Given the description of an element on the screen output the (x, y) to click on. 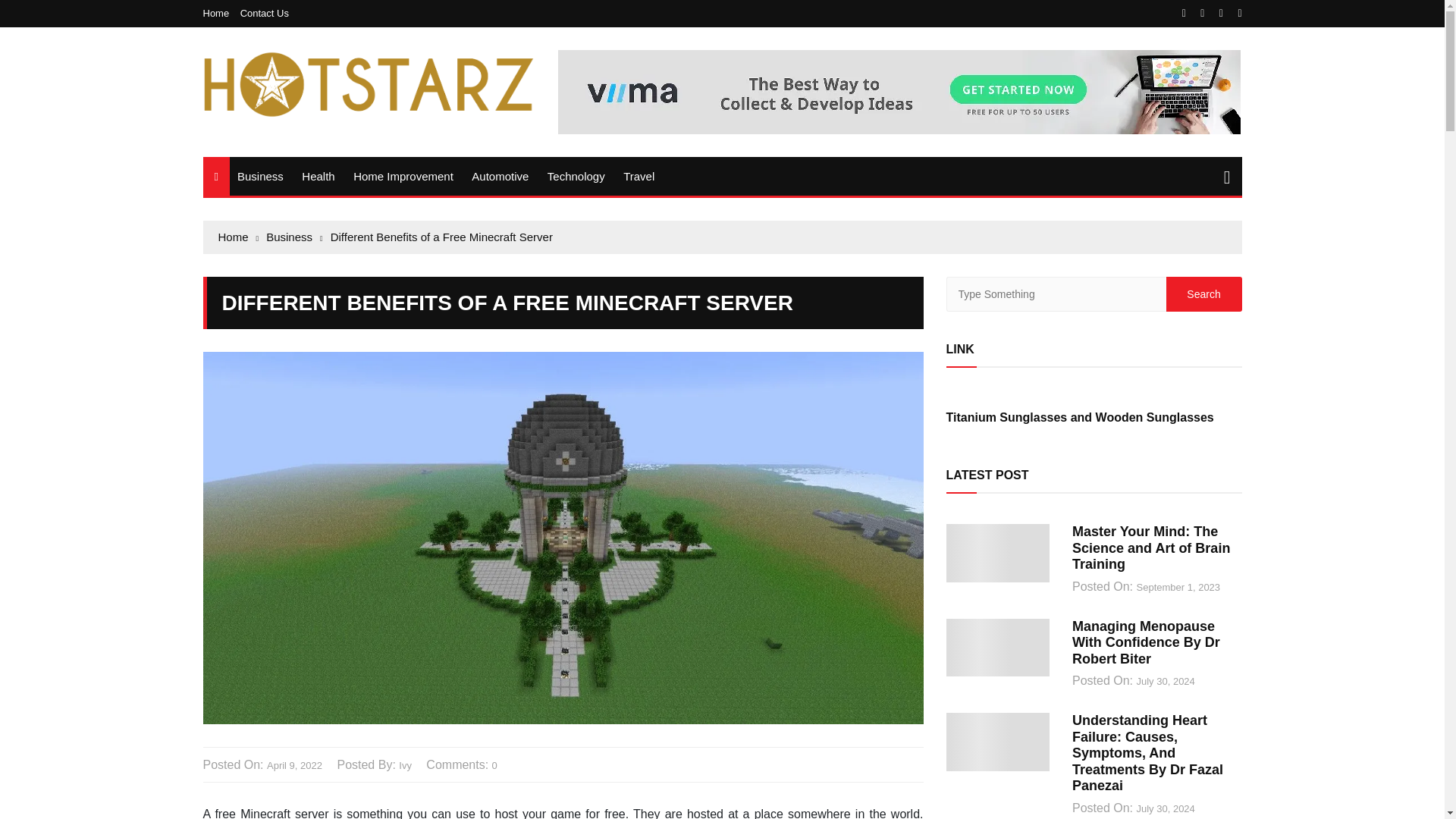
Automotive (499, 176)
Business (260, 176)
Search (1203, 294)
Contact Us (264, 13)
Travel (638, 176)
Home (220, 13)
Technology (576, 176)
Home Improvement (403, 176)
Health (318, 176)
